Given the description of an element on the screen output the (x, y) to click on. 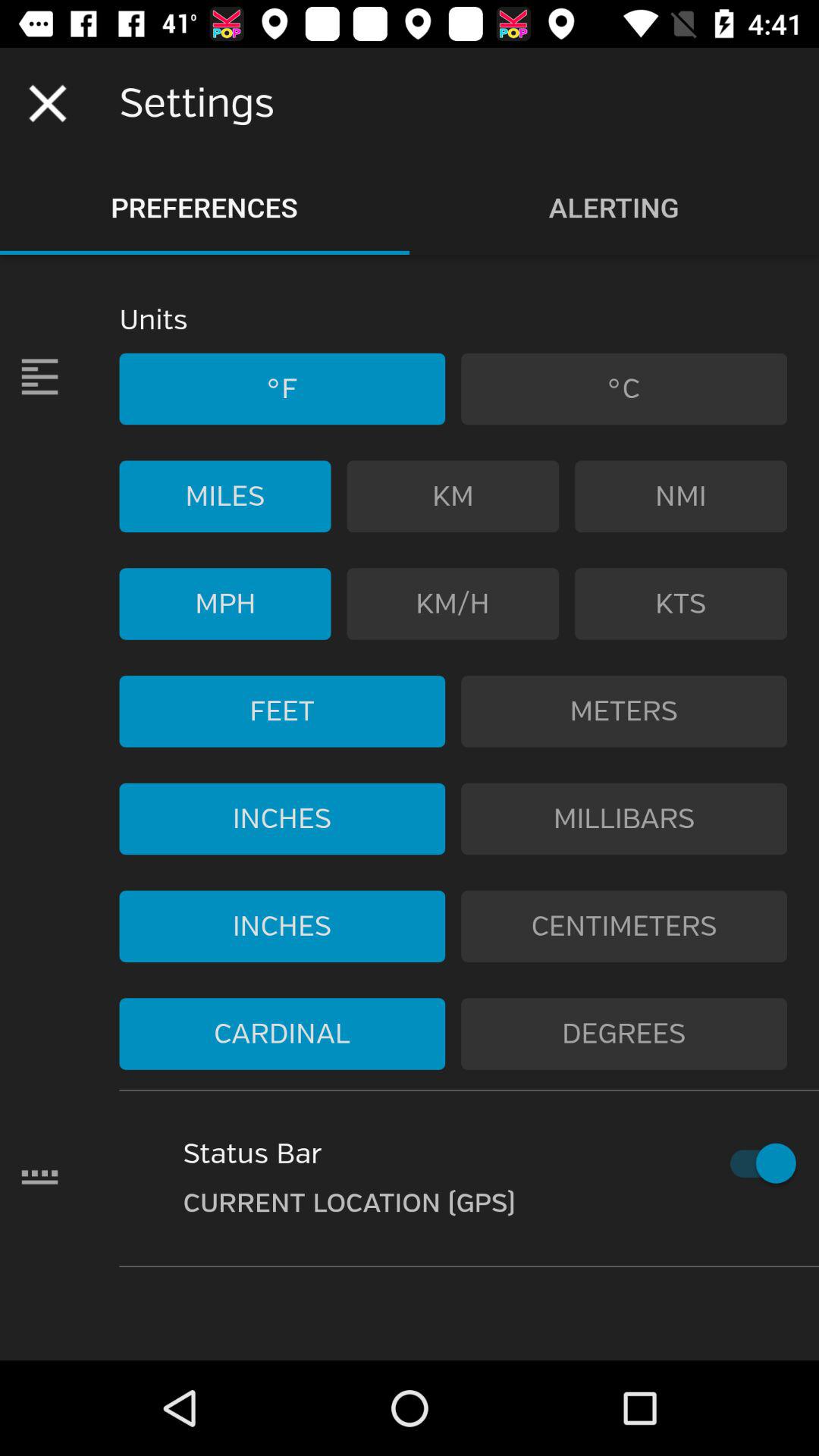
launch the item to the right of km/h (681, 603)
